Given the description of an element on the screen output the (x, y) to click on. 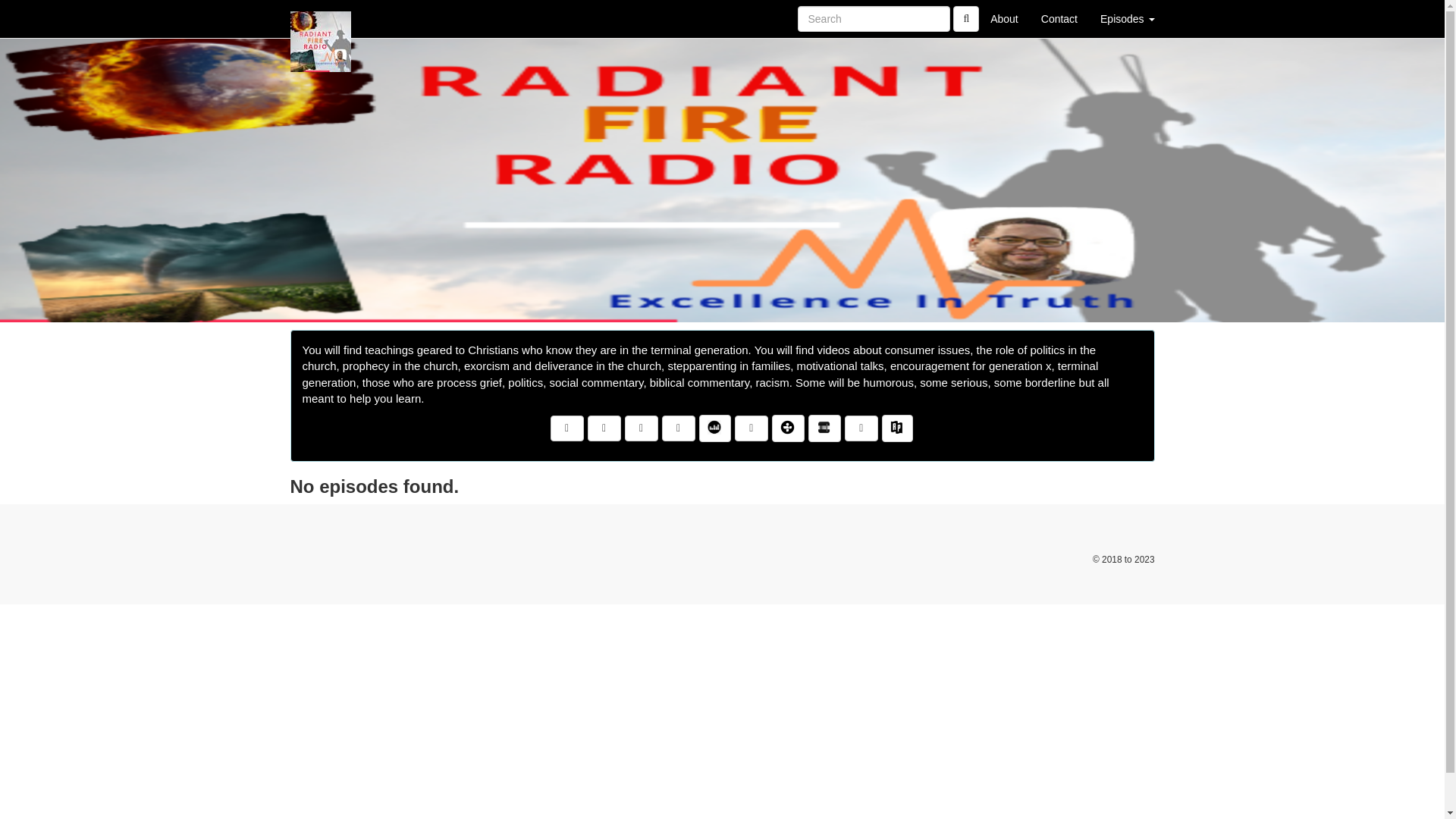
Home Page (320, 18)
Episodes (1127, 18)
Contact (1059, 18)
About (1003, 18)
